Given the description of an element on the screen output the (x, y) to click on. 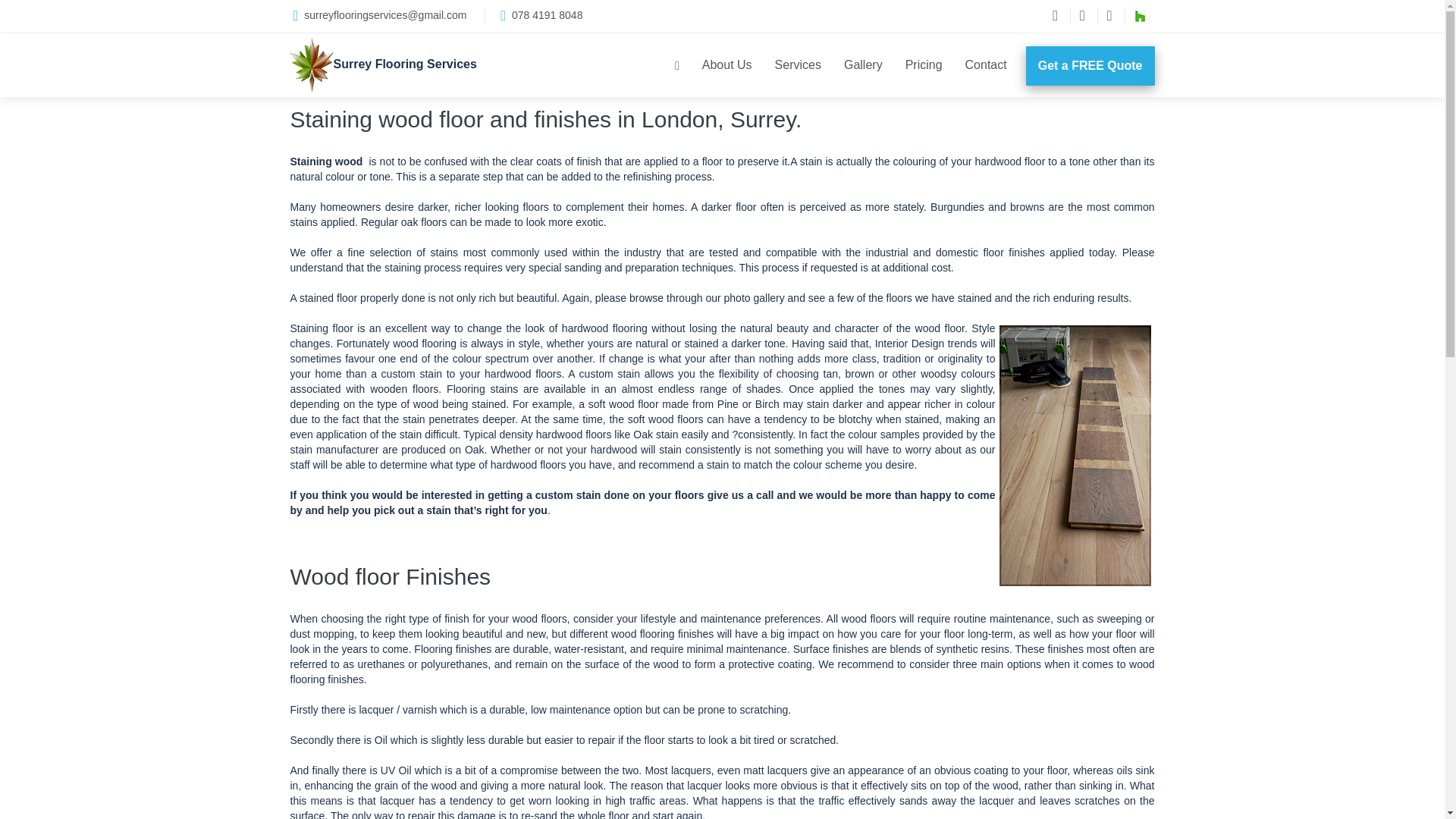
078 4191 8048 (547, 15)
About Us (726, 64)
Surrey Flooring Services (382, 64)
Pricing (923, 64)
Contact (985, 64)
Gallery (862, 64)
Services (797, 64)
Get a FREE Quote (1090, 65)
Get a FREE Quote (1090, 65)
